Given the description of an element on the screen output the (x, y) to click on. 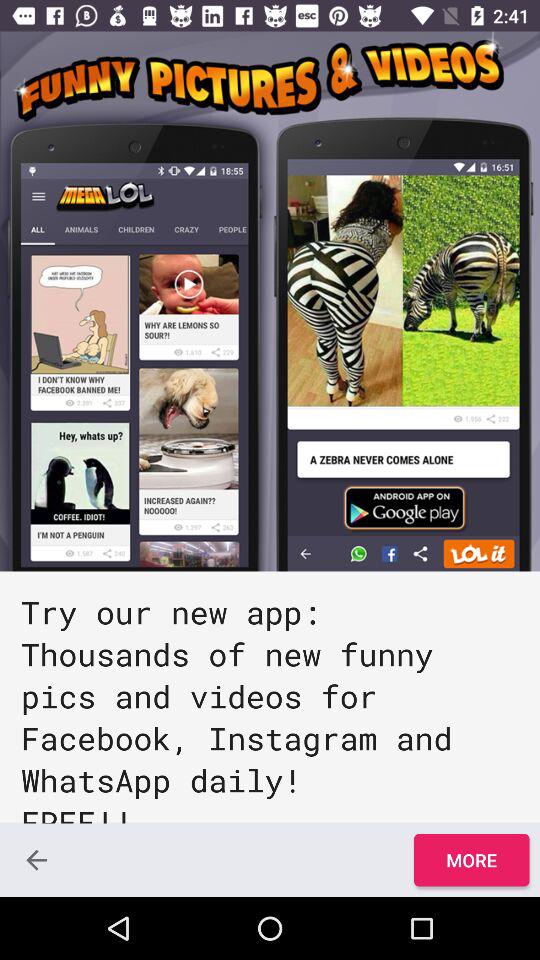
click the item at the bottom left corner (36, 859)
